Given the description of an element on the screen output the (x, y) to click on. 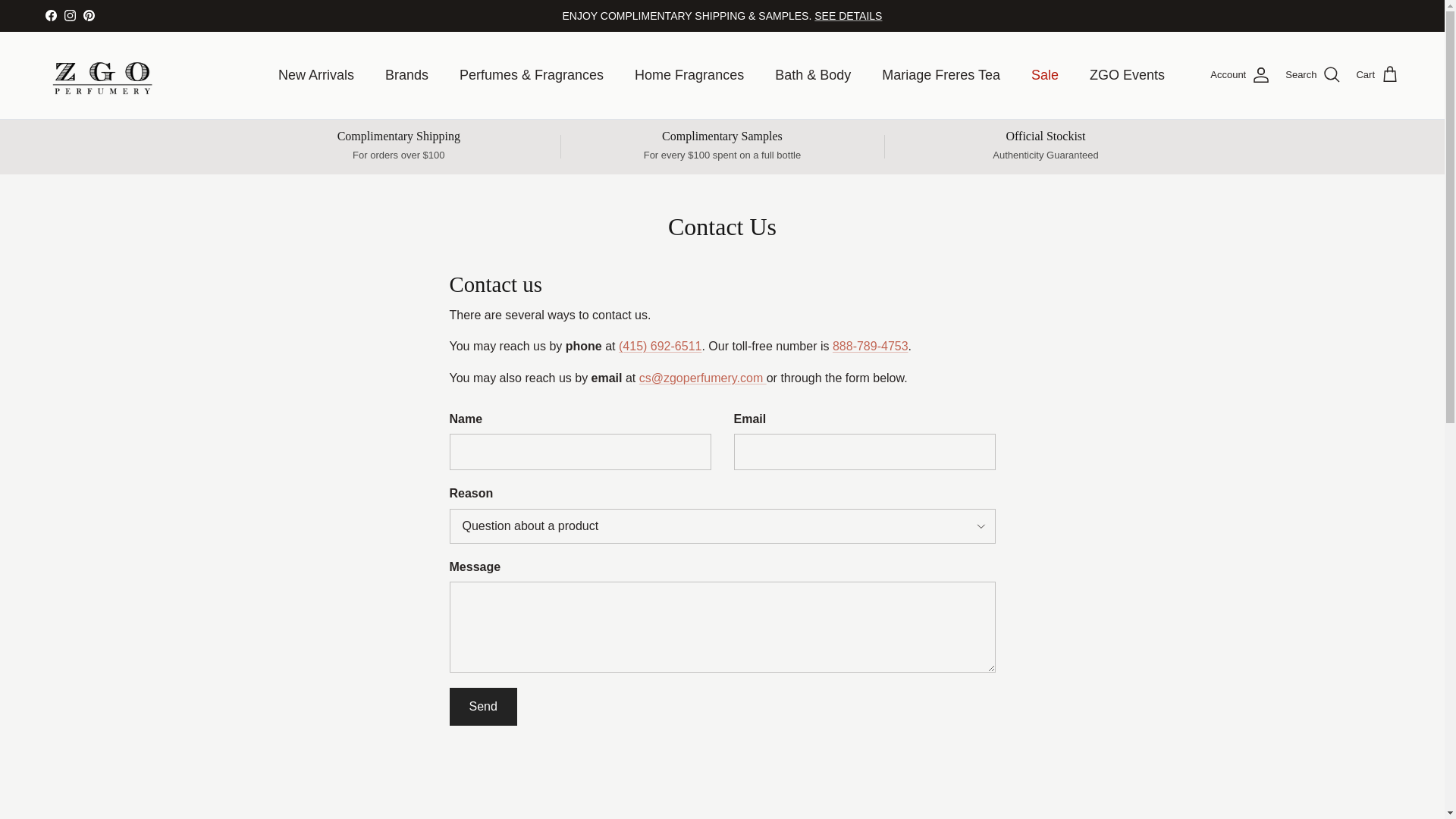
Facebook (50, 15)
ZGO Perfumery (101, 75)
ZGO Events (1126, 75)
Account (1239, 75)
Brands (406, 75)
SEE DETAILS (847, 15)
New Arrivals (316, 75)
ZGO Perfumery on Pinterest (88, 15)
Home Fragrances (689, 75)
Complimentary Shipping and Samples (847, 15)
Search (1312, 75)
tel:888-789-4753 (870, 345)
ZGO Perfumery on Facebook (50, 15)
ZGO Perfumery on Instagram (69, 15)
Cart (1377, 75)
